Given the description of an element on the screen output the (x, y) to click on. 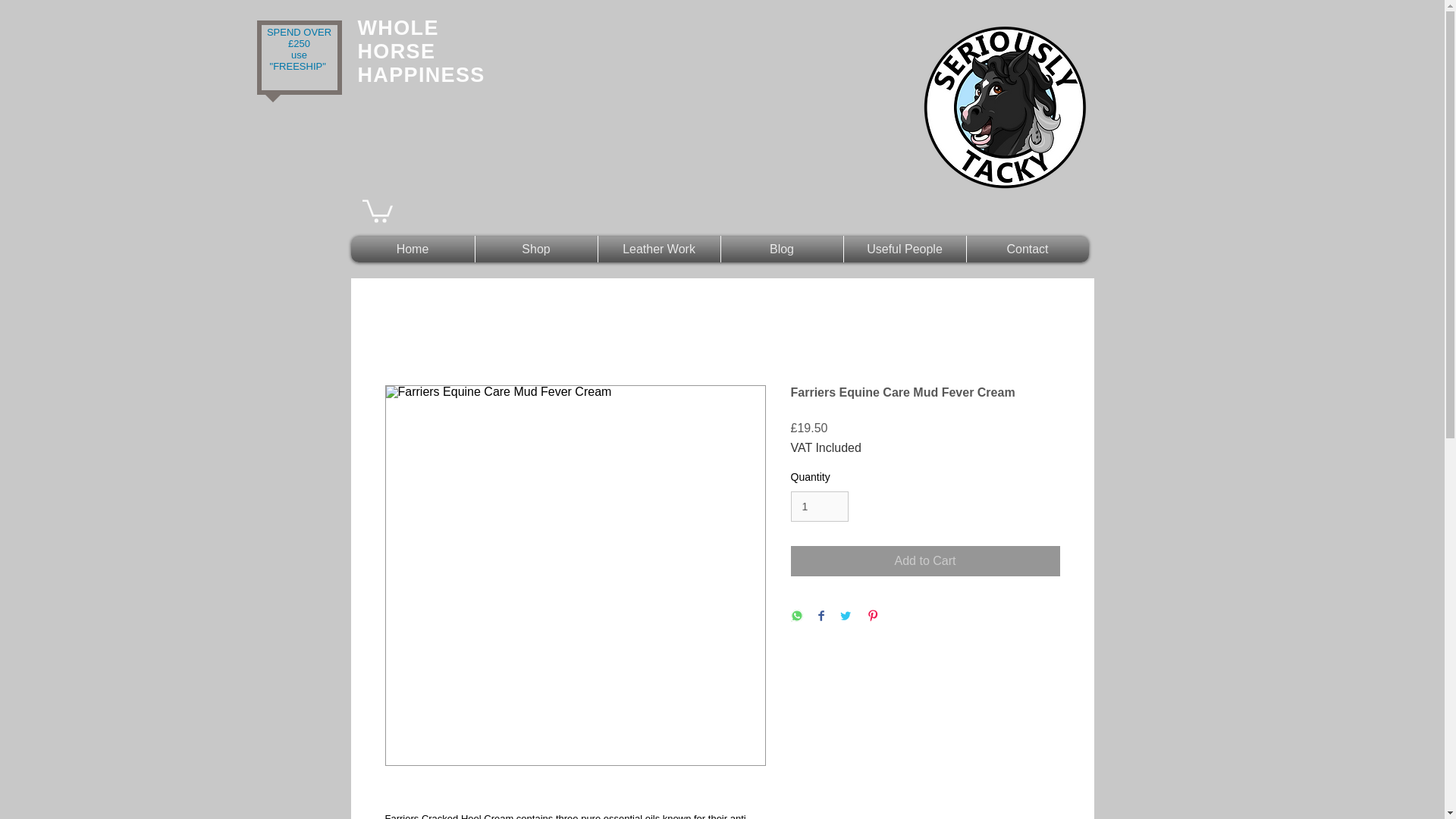
Contact (1027, 248)
1 (818, 506)
Shop (536, 248)
Add to Cart (924, 561)
Leather Work (659, 248)
Home (412, 248)
Blog (782, 248)
Useful People (904, 248)
